Given the description of an element on the screen output the (x, y) to click on. 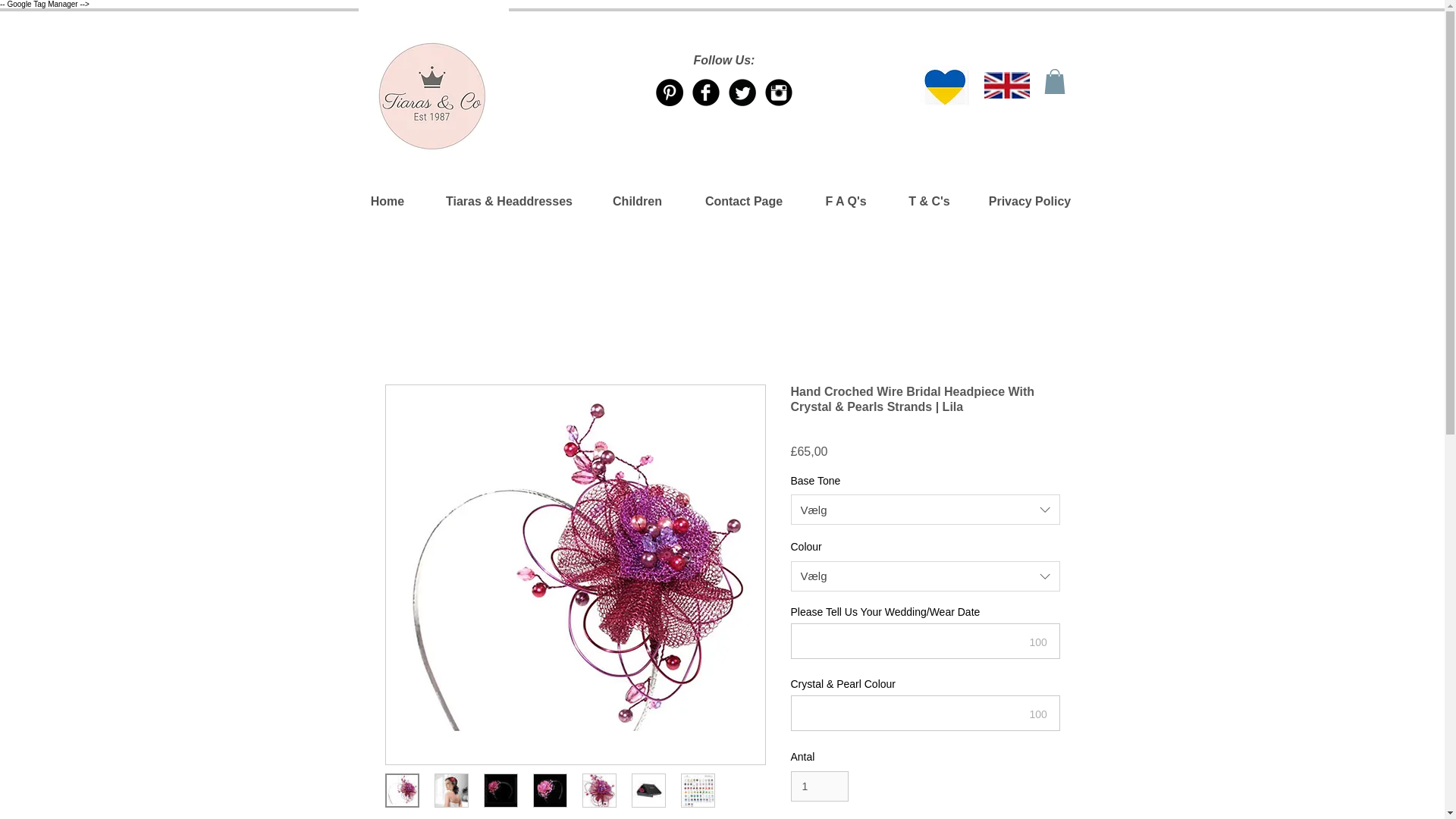
Contact Page (744, 201)
1 (818, 786)
Home (386, 201)
Children (637, 201)
Union Jack Flag (1006, 85)
Privacy Policy (1029, 201)
F A Q's (844, 201)
